Given the description of an element on the screen output the (x, y) to click on. 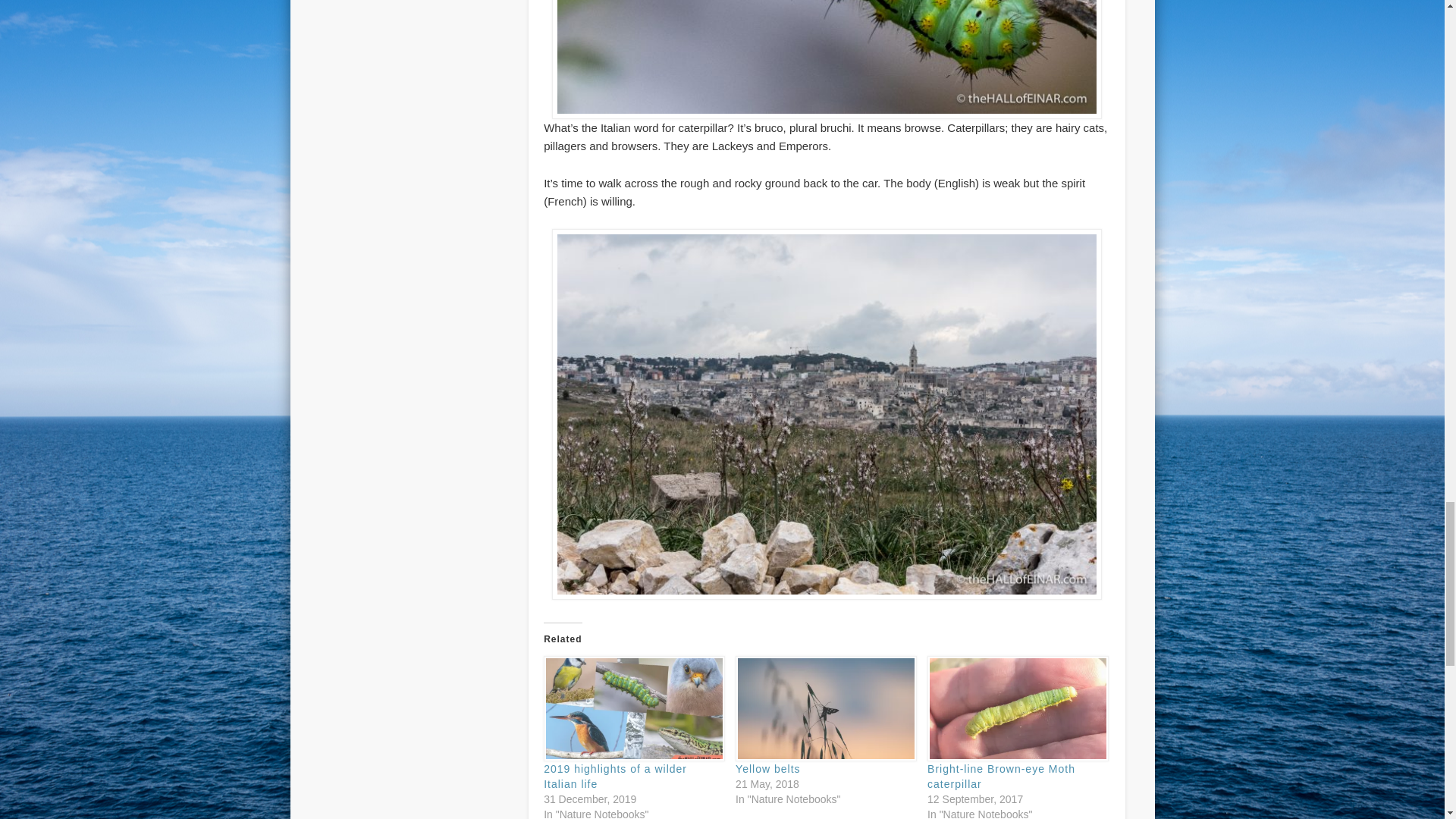
Bright-line Brown-eye Moth caterpillar (1001, 776)
2019 highlights of a wilder Italian life (615, 776)
Bright-line Brown-eye Moth caterpillar (1001, 776)
Yellow belts (767, 768)
Yellow belts (767, 768)
Bright-line Brown-eye Moth caterpillar (1015, 708)
2019 highlights of a wilder Italian life (615, 776)
Yellow belts (823, 708)
2019 highlights of a wilder Italian life (631, 708)
